Given the description of an element on the screen output the (x, y) to click on. 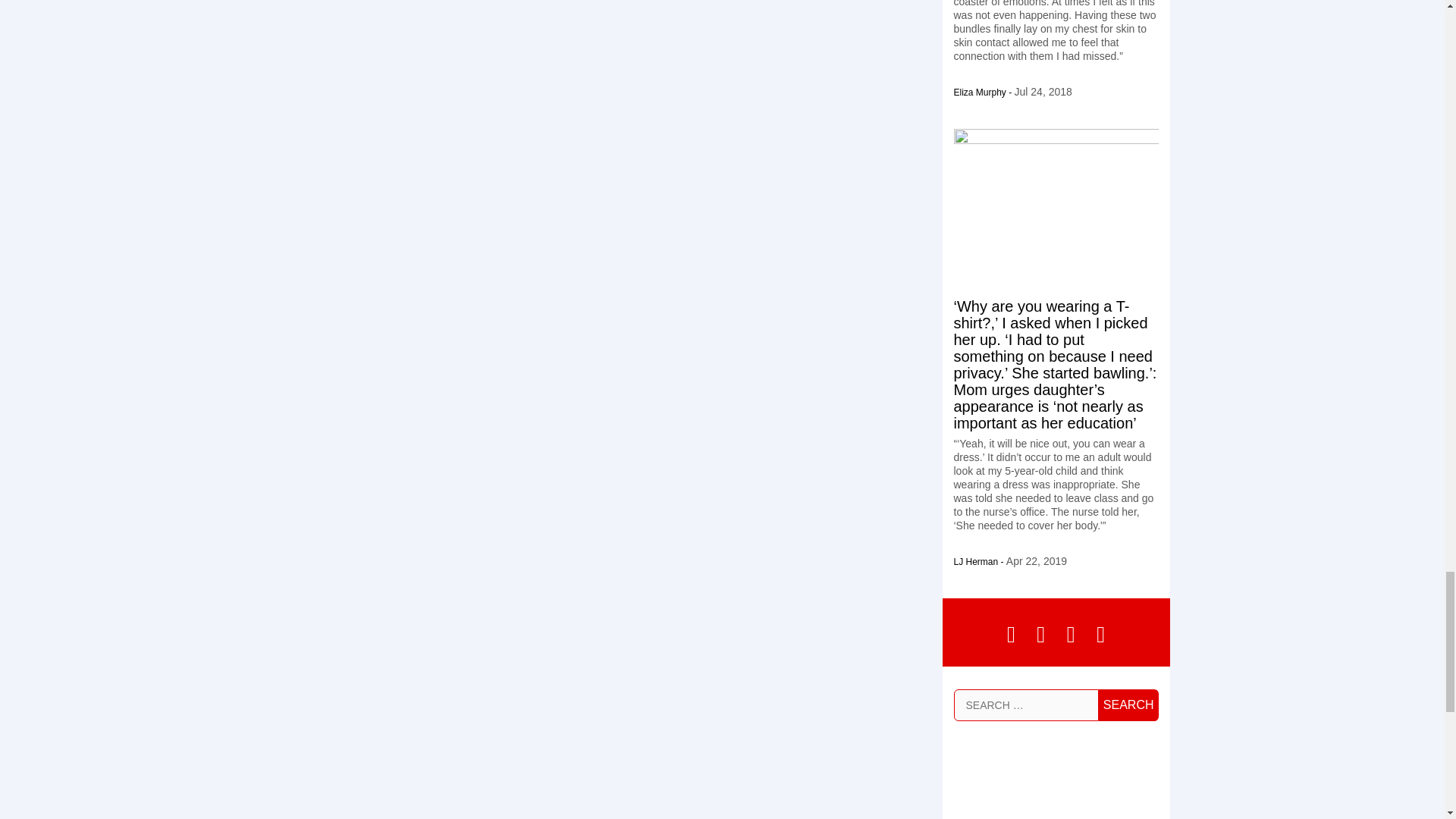
July 24, 2018 (1042, 91)
April 22, 2019 (1036, 561)
Search (1128, 704)
Search (1128, 704)
